Given the description of an element on the screen output the (x, y) to click on. 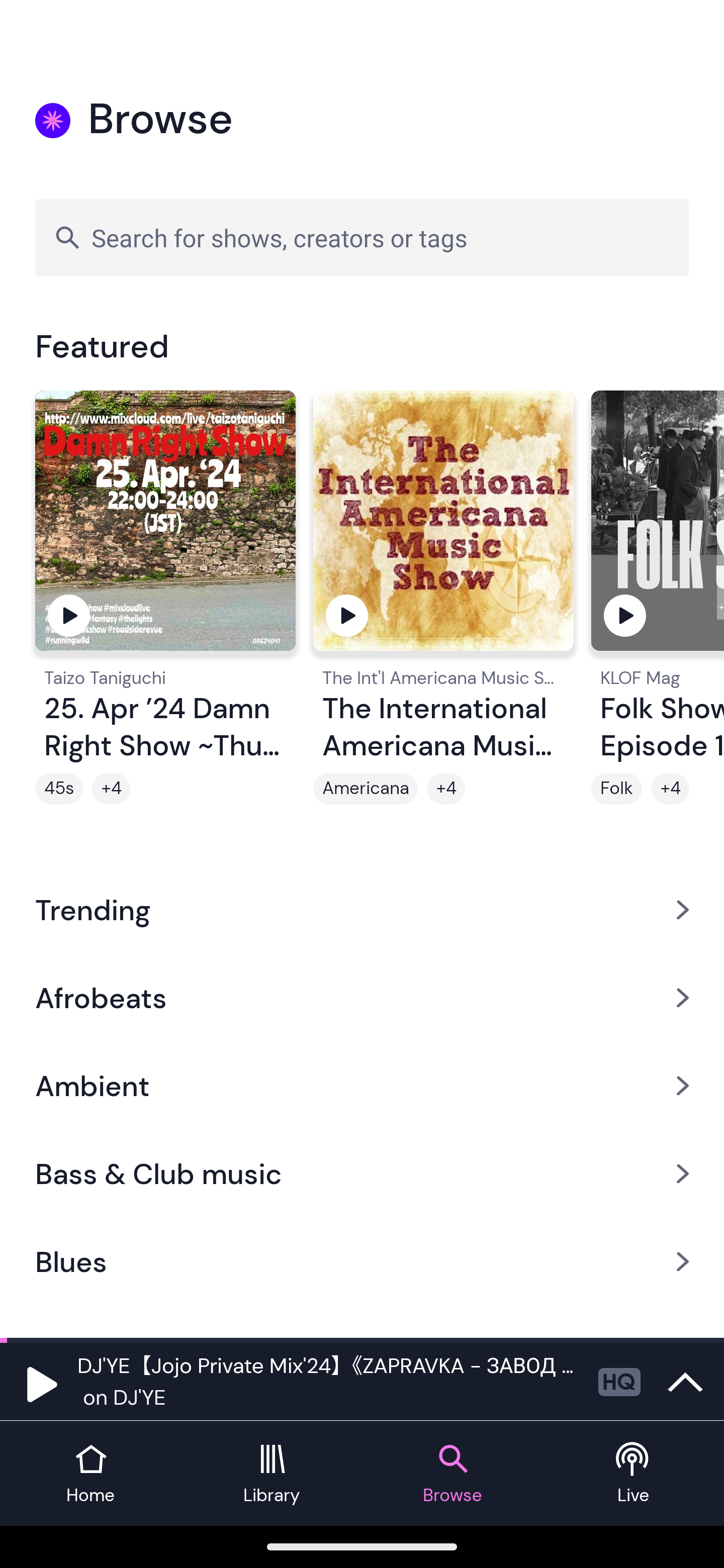
Search for shows, creators or tags (361, 237)
45s (59, 788)
Americana (365, 788)
Folk (616, 788)
Trending (361, 909)
Afrobeats (361, 997)
Ambient (361, 1085)
Bass & Club music (361, 1174)
Blues (361, 1262)
Home tab Home (90, 1473)
Library tab Library (271, 1473)
Browse tab Browse (452, 1473)
Live tab Live (633, 1473)
